Given the description of an element on the screen output the (x, y) to click on. 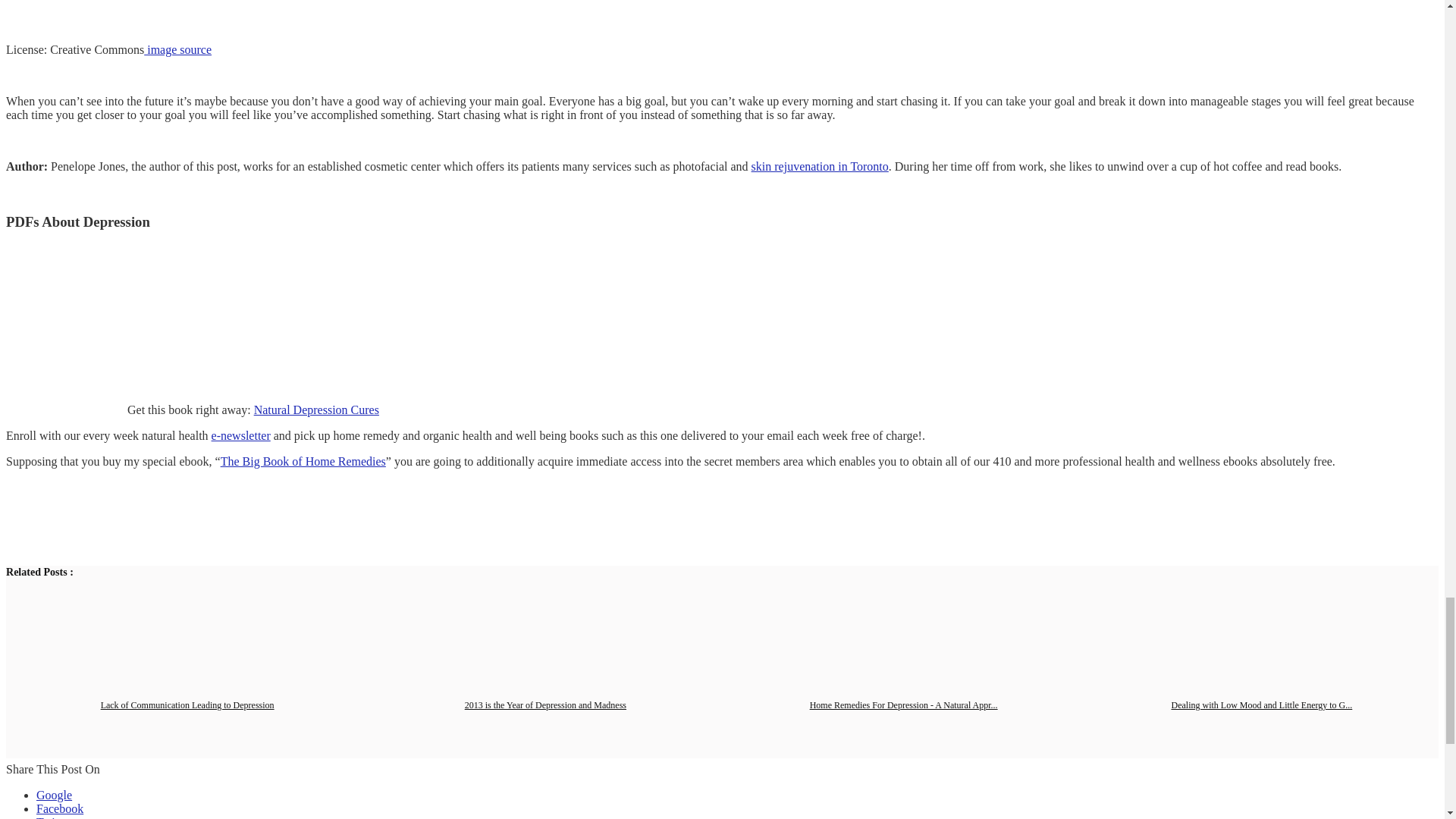
skin rejuvenation in Toronto (819, 165)
2013 is the Year of Depression and Madness (545, 705)
basket ball hoop (195, 13)
e-newsletter (240, 435)
Lack of Communication Leading to Depression (187, 705)
Subscribe to Newsletter (240, 435)
The Big Book of Home Remedies (303, 461)
Natural Depression Cures (315, 409)
image source (177, 49)
